Given the description of an element on the screen output the (x, y) to click on. 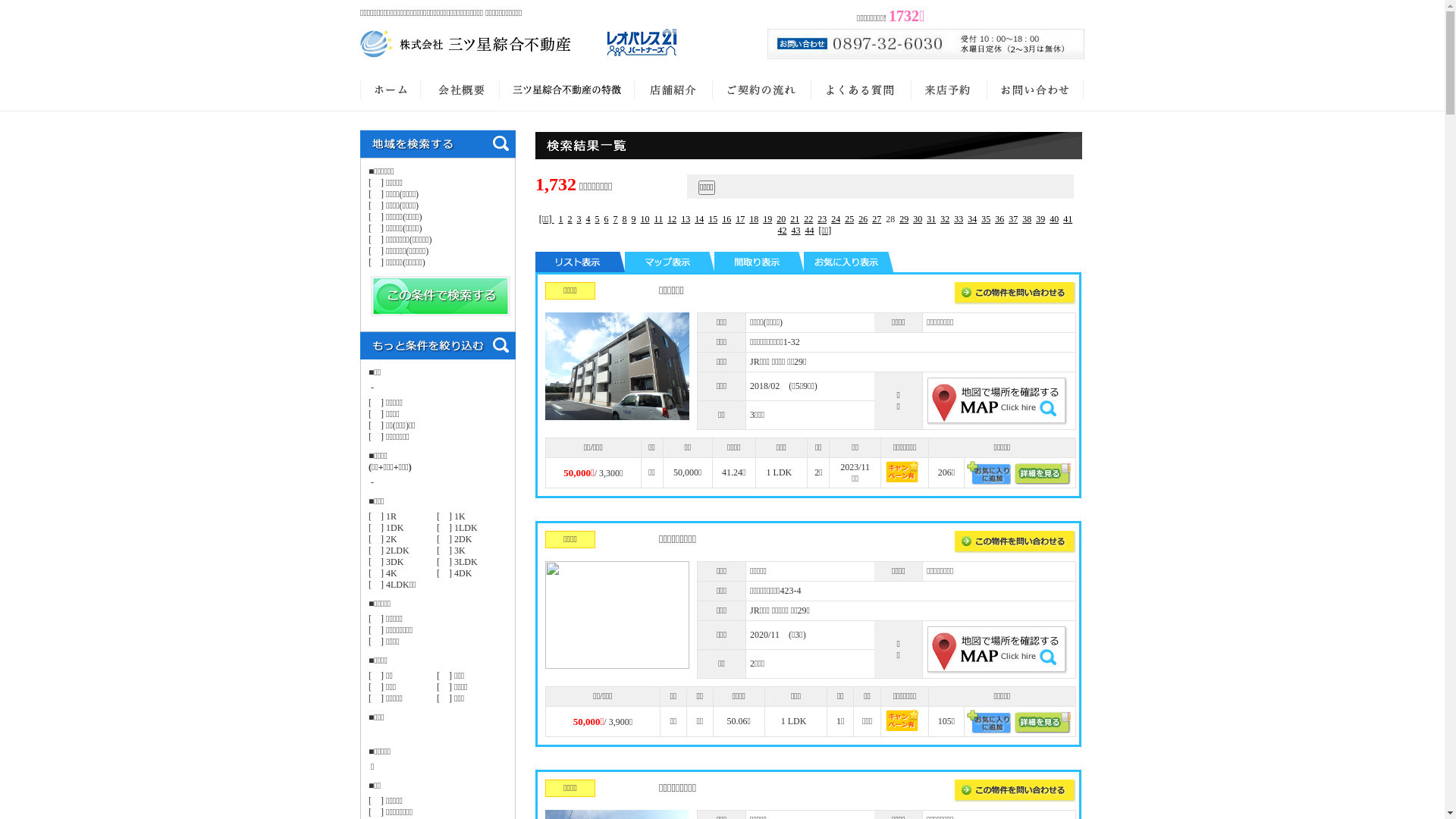
43 Element type: text (795, 230)
20 Element type: text (780, 218)
41 Element type: text (1067, 218)
42 Element type: text (782, 230)
22 Element type: text (807, 218)
18 Element type: text (753, 218)
25 Element type: text (848, 218)
14 Element type: text (698, 218)
44 Element type: text (809, 230)
15 Element type: text (712, 218)
1 Element type: text (560, 218)
26 Element type: text (862, 218)
5 Element type: text (597, 218)
13 Element type: text (685, 218)
39 Element type: text (1039, 218)
32 Element type: text (944, 218)
17 Element type: text (739, 218)
7 Element type: text (615, 218)
12 Element type: text (671, 218)
31 Element type: text (930, 218)
16 Element type: text (726, 218)
6 Element type: text (606, 218)
38 Element type: text (1026, 218)
2 Element type: text (569, 218)
29 Element type: text (903, 218)
4 Element type: text (588, 218)
24 Element type: text (835, 218)
33 Element type: text (958, 218)
19 Element type: text (766, 218)
21 Element type: text (794, 218)
3 Element type: text (579, 218)
40 Element type: text (1053, 218)
23 Element type: text (821, 218)
8 Element type: text (624, 218)
36 Element type: text (999, 218)
34 Element type: text (971, 218)
27 Element type: text (876, 218)
10 Element type: text (644, 218)
9 Element type: text (633, 218)
35 Element type: text (985, 218)
30 Element type: text (917, 218)
11 Element type: text (658, 218)
37 Element type: text (1012, 218)
